Given the description of an element on the screen output the (x, y) to click on. 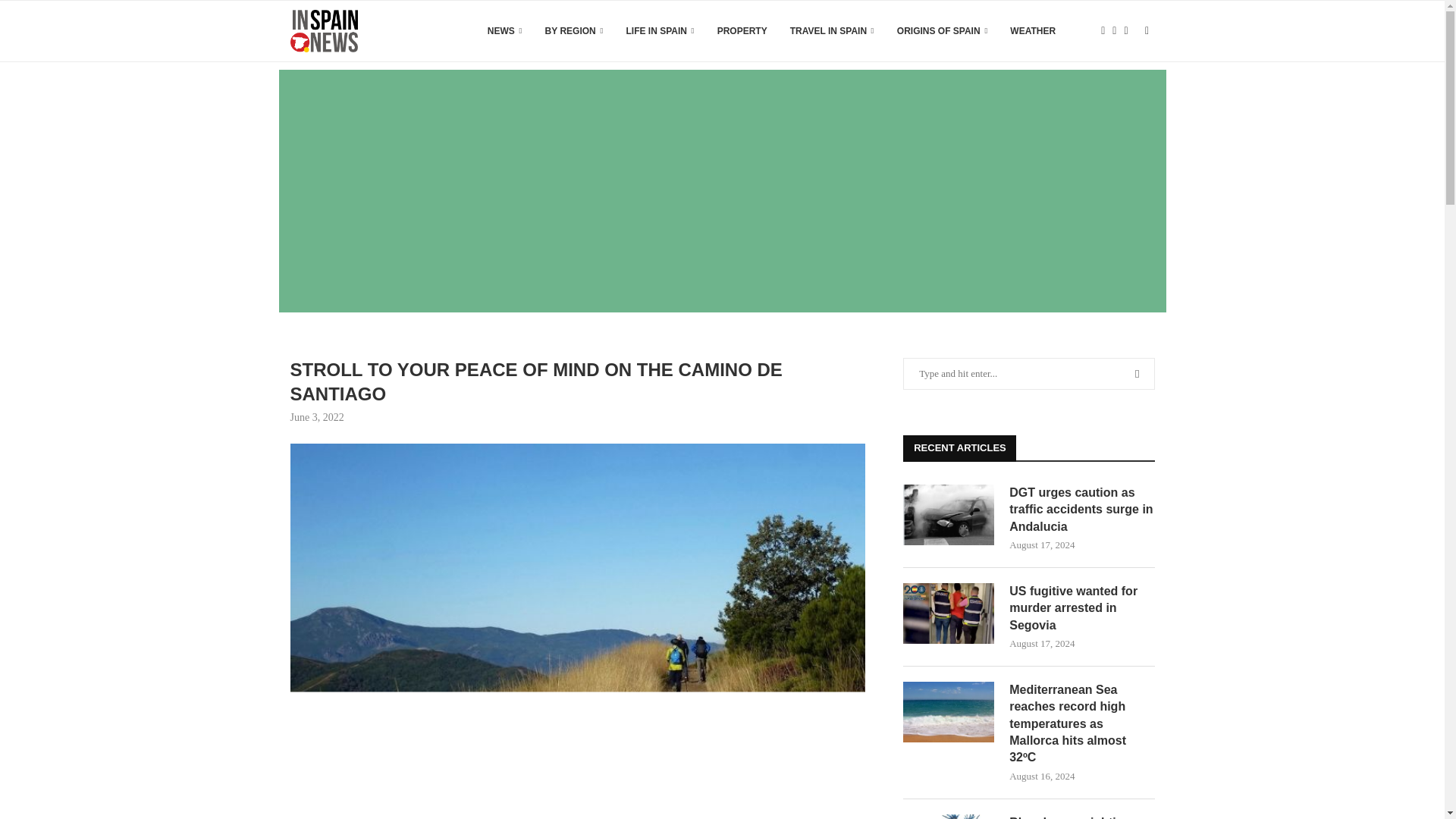
TRAVEL IN SPAIN (832, 30)
ORIGINS OF SPAIN (942, 30)
BY REGION (574, 30)
LIFE IN SPAIN (660, 30)
